Given the description of an element on the screen output the (x, y) to click on. 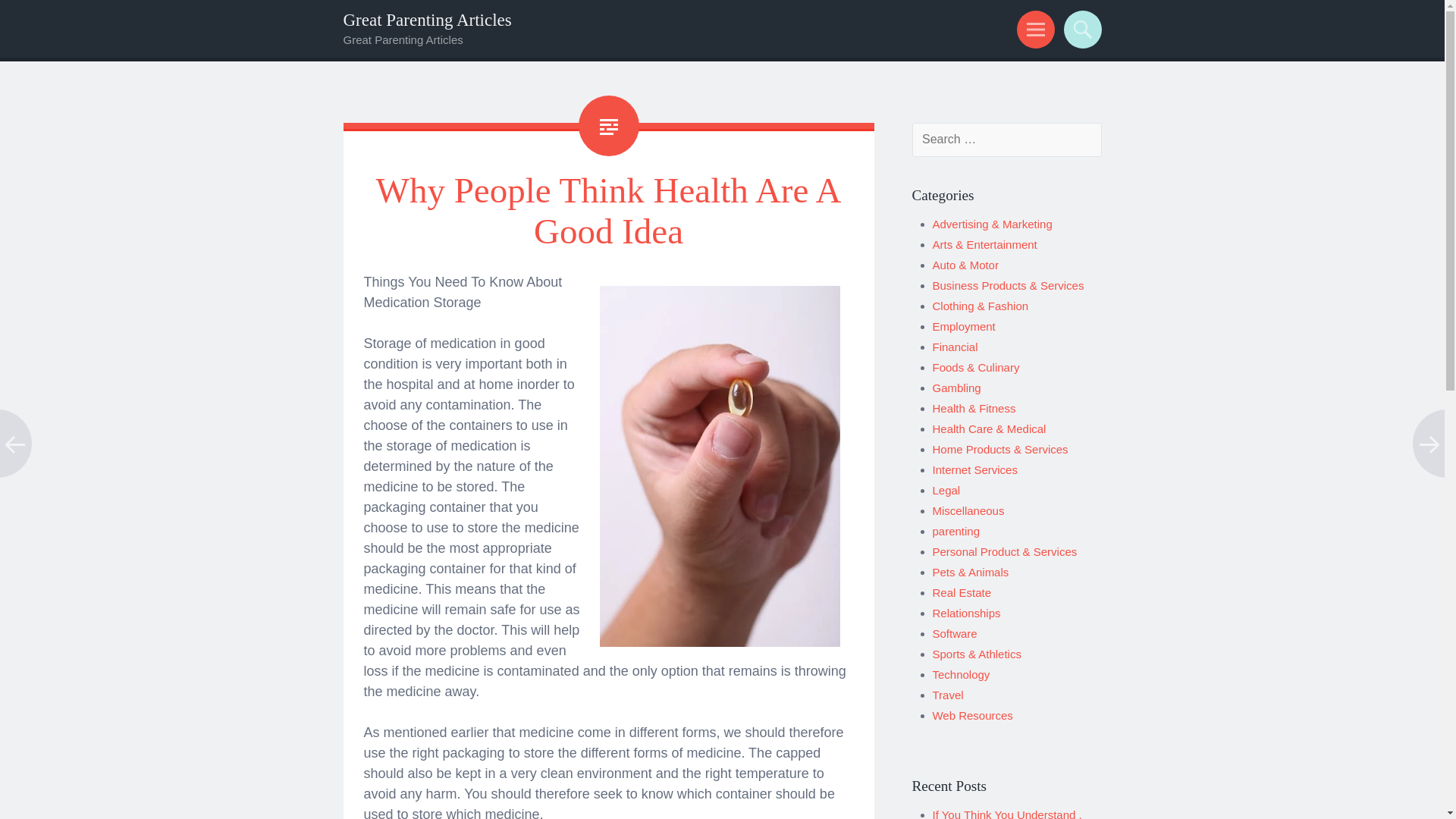
Travel (948, 694)
Financial (955, 346)
Relationships (967, 612)
Employment (964, 326)
Search (1080, 29)
Miscellaneous (968, 510)
Menu (1032, 29)
Software (954, 633)
Technology (961, 674)
Internet Services (975, 469)
